Given the description of an element on the screen output the (x, y) to click on. 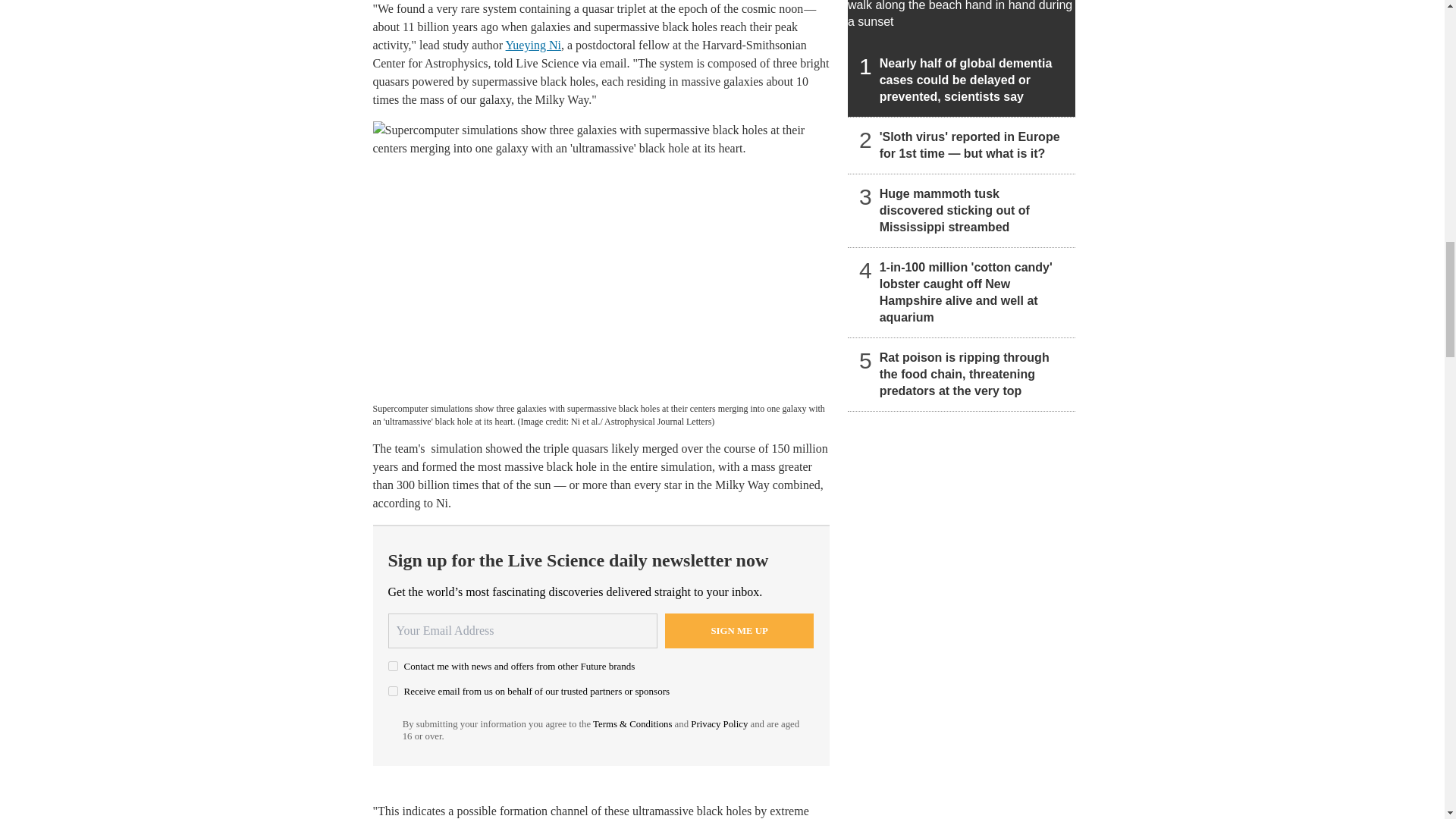
on (392, 665)
on (392, 691)
Sign me up (739, 630)
